Given the description of an element on the screen output the (x, y) to click on. 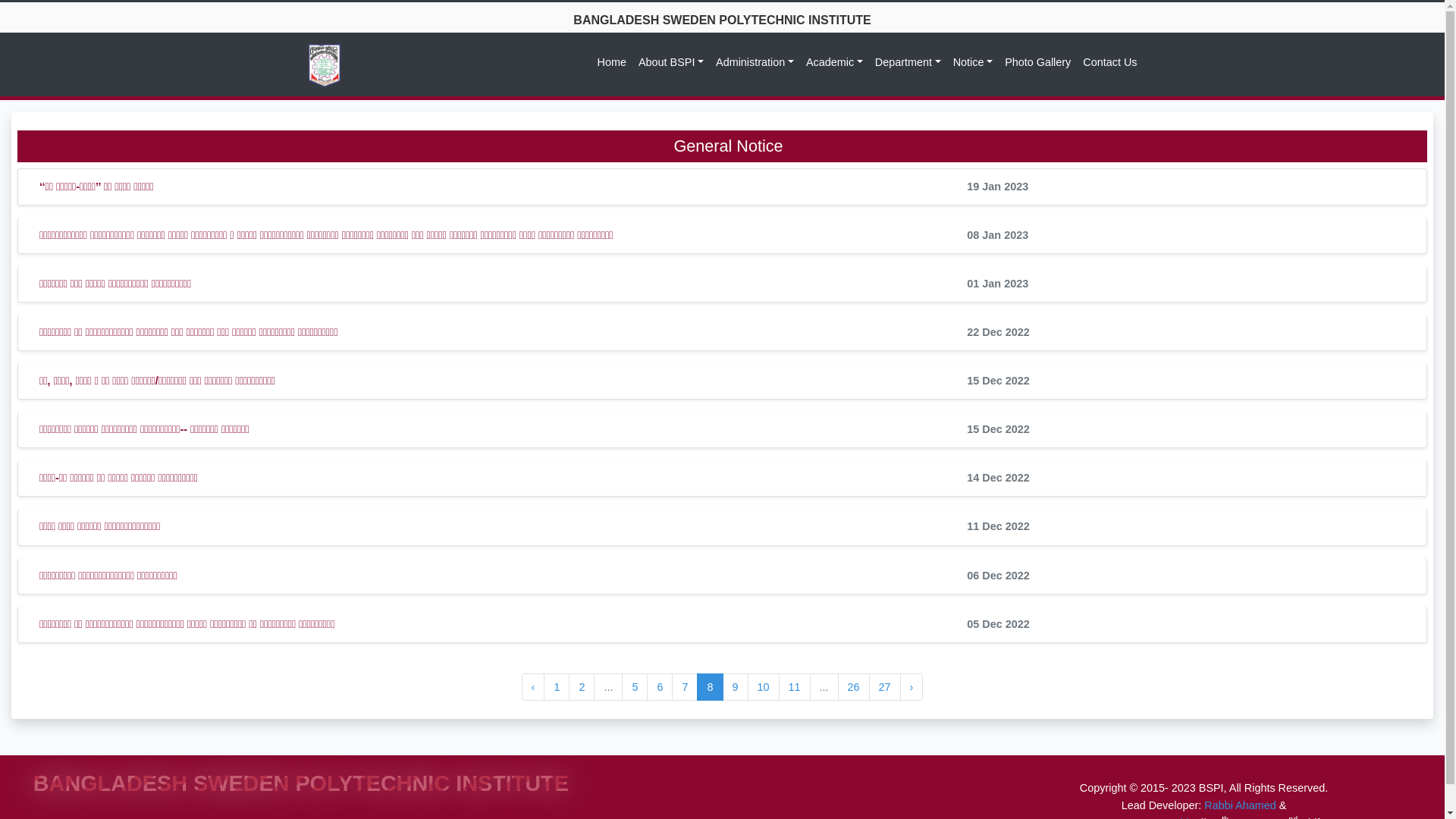
7 Element type: text (684, 686)
Home Element type: text (611, 62)
Academic Element type: text (834, 62)
Rabbi Ahamed Element type: text (1239, 805)
10 Element type: text (763, 686)
About BSPI Element type: text (670, 62)
Administration Element type: text (754, 62)
26 Element type: text (853, 686)
Contact Us Element type: text (1109, 62)
Notice Element type: text (972, 62)
5 Element type: text (634, 686)
6 Element type: text (659, 686)
Department Element type: text (908, 62)
1 Element type: text (556, 686)
9 Element type: text (734, 686)
2 Element type: text (581, 686)
27 Element type: text (884, 686)
11 Element type: text (794, 686)
Photo Gallery Element type: text (1037, 62)
